Given the description of an element on the screen output the (x, y) to click on. 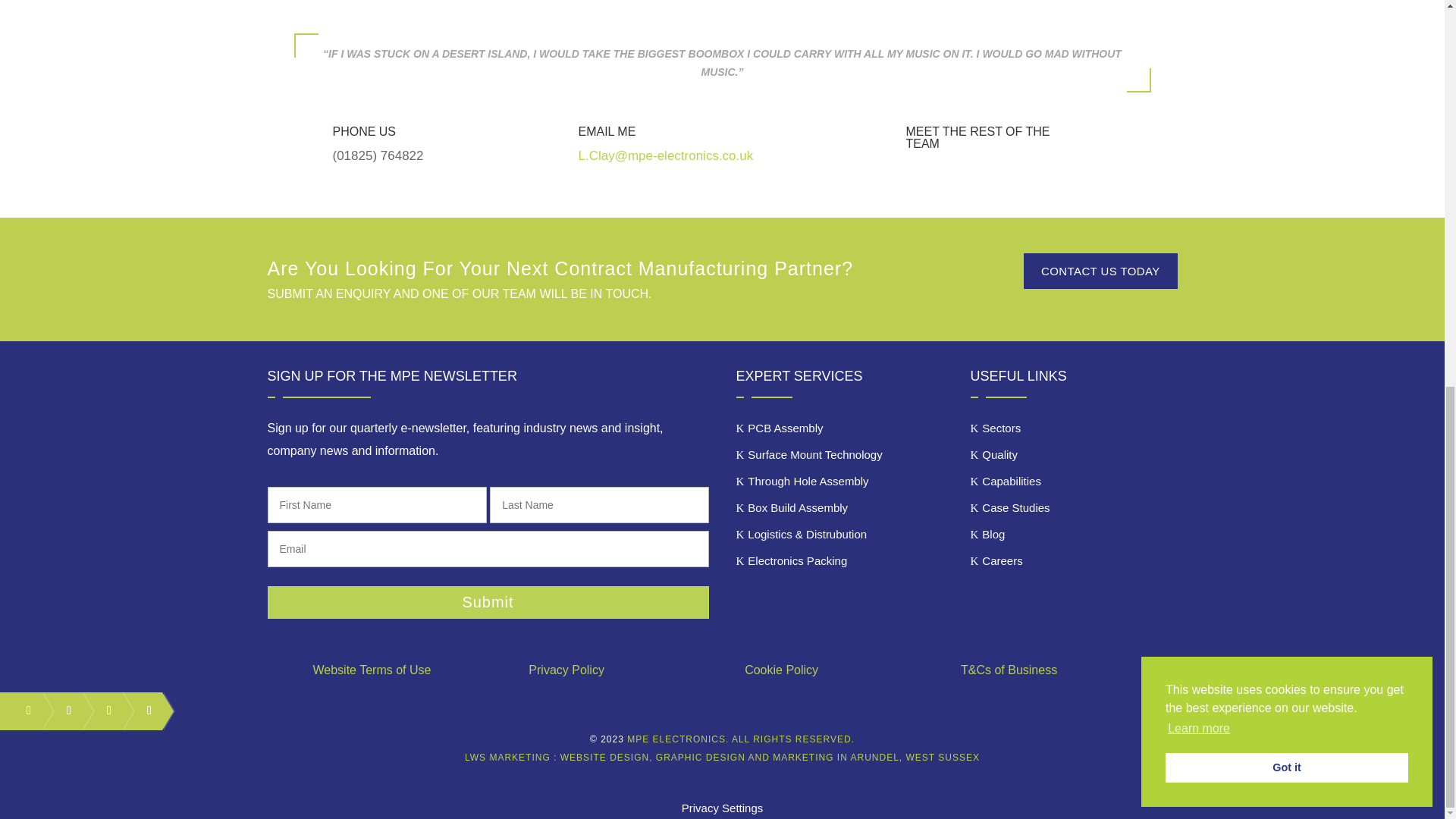
LWS Marketing (721, 757)
Follow on Youtube (142, 710)
Follow on Facebook (21, 710)
Submit (486, 602)
Follow on X (61, 710)
Follow on LinkedIn (102, 710)
